Given the description of an element on the screen output the (x, y) to click on. 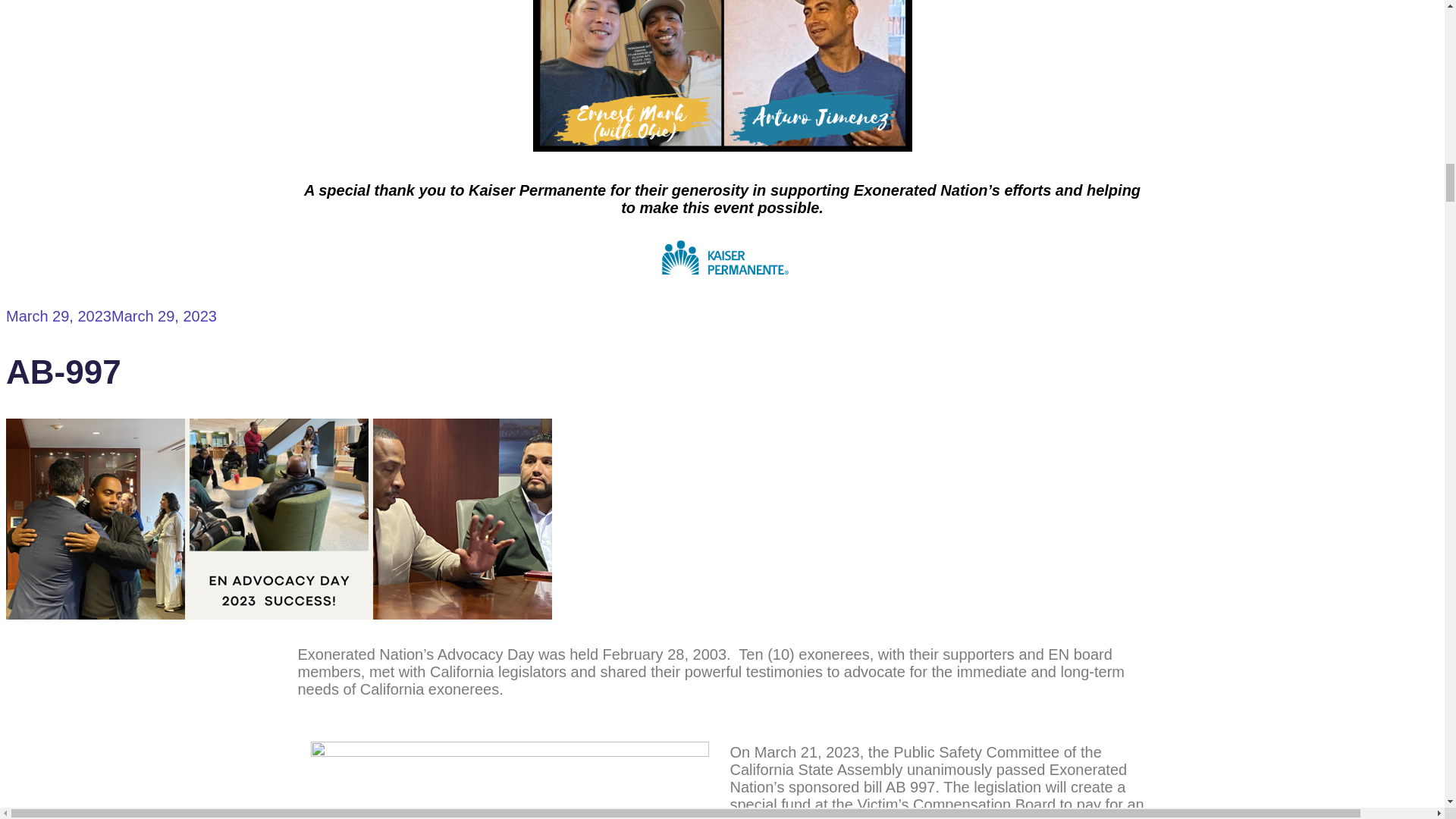
Facilitator Collage (721, 75)
